Given the description of an element on the screen output the (x, y) to click on. 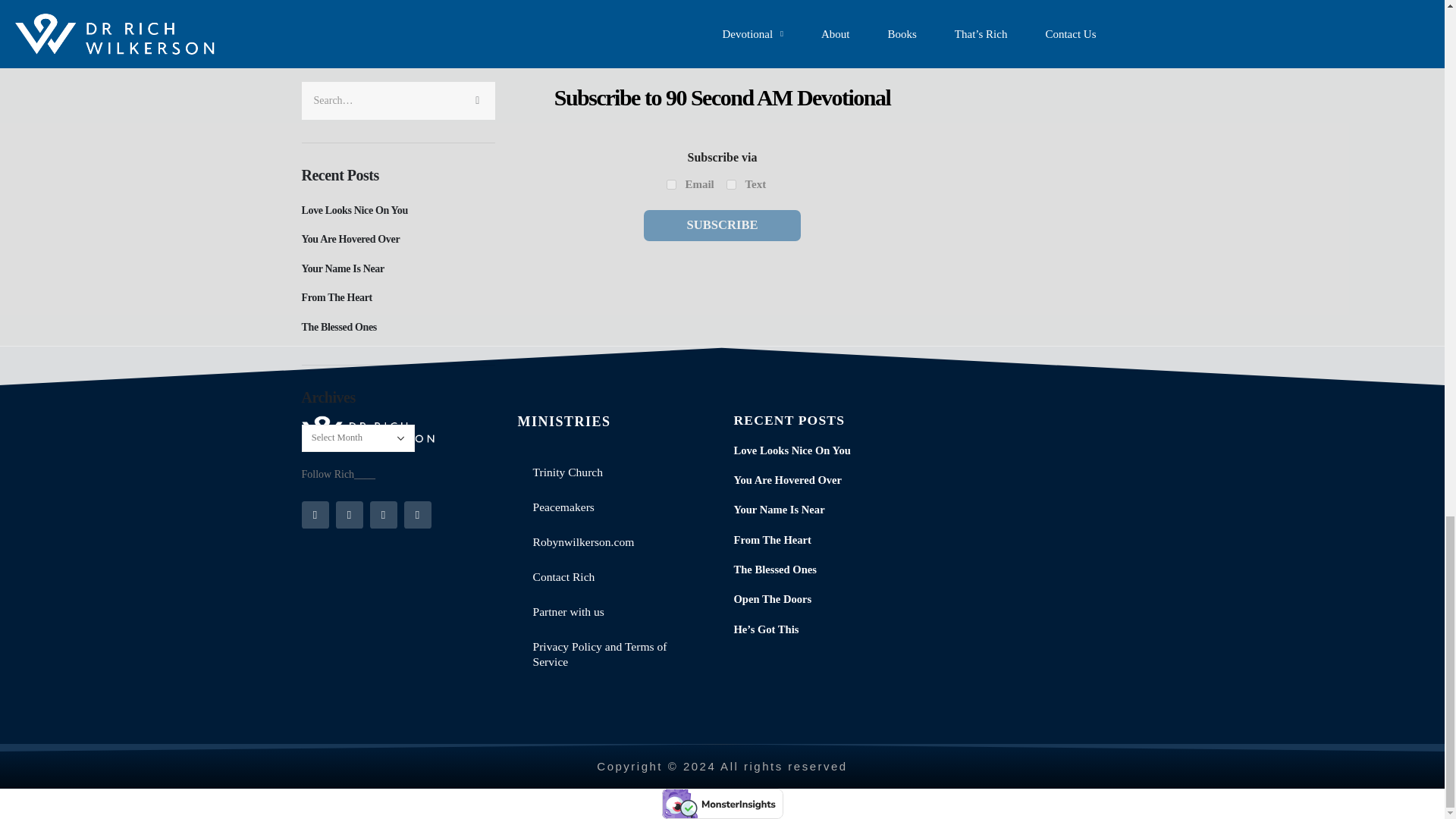
Email (671, 184)
Text (731, 184)
SUBSCRIBE (721, 224)
